Given the description of an element on the screen output the (x, y) to click on. 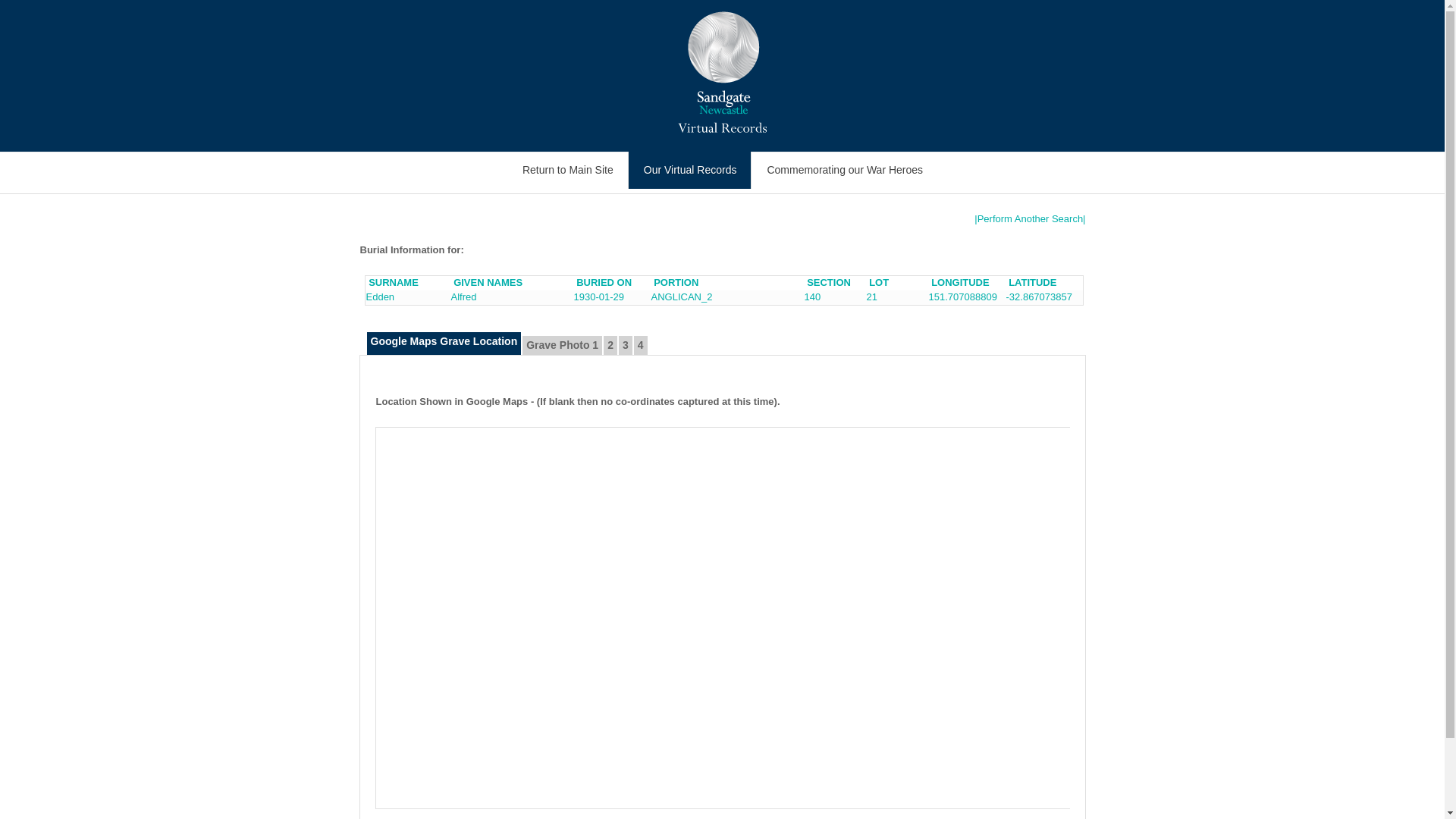
151.707088809 Element type: text (962, 296)
LATITUDE Element type: text (1032, 282)
3 Element type: text (625, 344)
Return to Main Site Element type: text (567, 169)
4 Element type: text (640, 344)
Commemorating our War Heroes Element type: text (844, 169)
1930-01-29 Element type: text (598, 296)
|Perform Another Search| Element type: text (1029, 218)
21 Element type: text (871, 296)
PORTION Element type: text (675, 282)
Alfred Element type: text (463, 296)
LOT Element type: text (878, 282)
SURNAME Element type: text (393, 282)
Edden Element type: text (379, 296)
ANGLICAN_2 Element type: text (681, 296)
  Element type: text (360, 312)
2 Element type: text (610, 344)
140 Element type: text (811, 296)
Our Virtual Records Element type: text (689, 169)
-32.867073857 Element type: text (1038, 296)
Grave Photo 1 Element type: text (562, 344)
GIVEN NAMES Element type: text (487, 282)
LONGITUDE Element type: text (960, 282)
Google Maps Grave Location Element type: text (444, 343)
BURIED ON Element type: text (603, 282)
SECTION Element type: text (828, 282)
  Element type: text (378, 370)
